Given the description of an element on the screen output the (x, y) to click on. 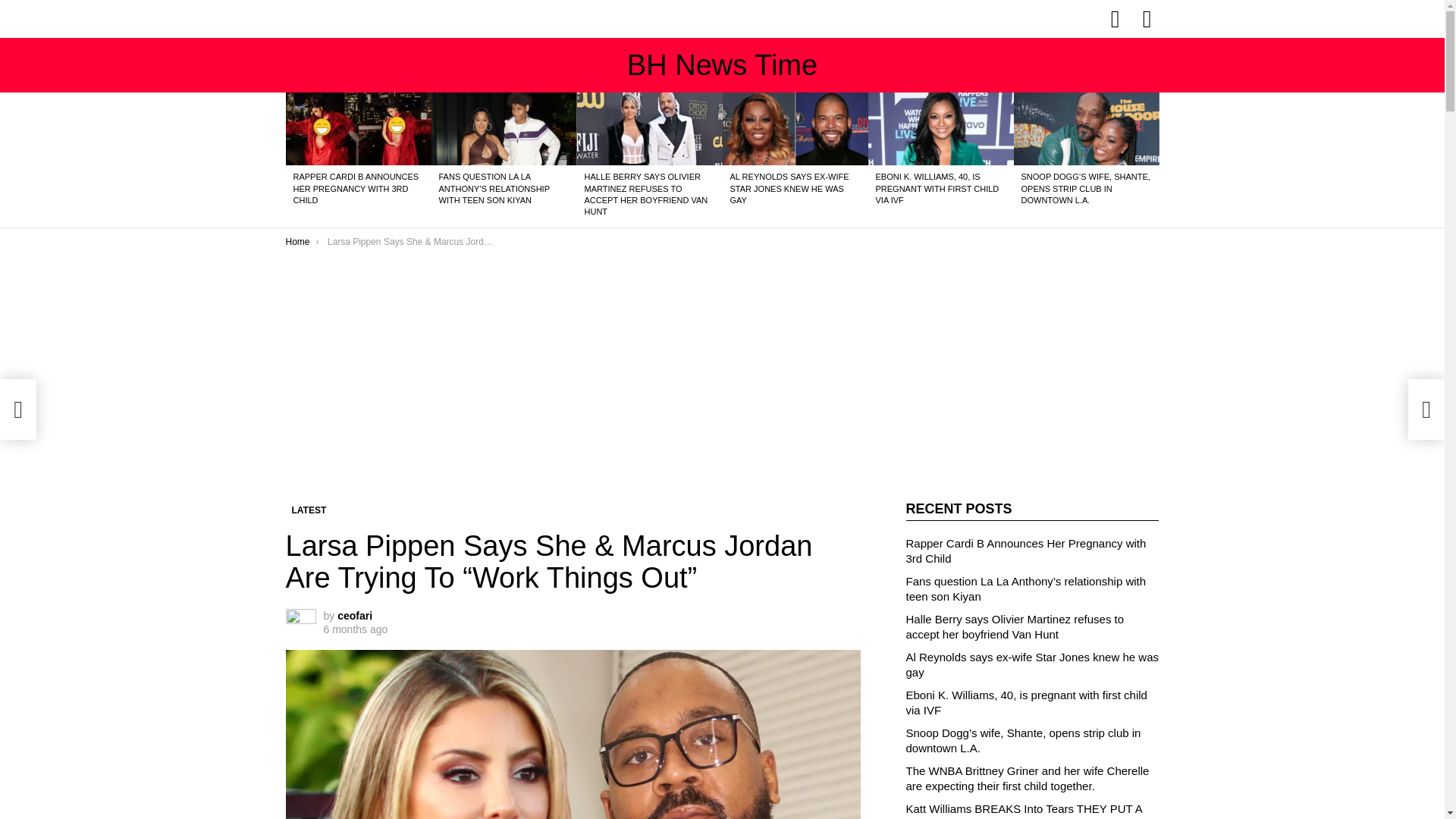
Advertisement (572, 390)
AL REYNOLDS SAYS EX-WIFE STAR JONES KNEW HE WAS GAY (788, 187)
Al Reynolds says ex-wife Star Jones knew he was gay (794, 128)
Home (296, 241)
Rapper Cardi B Announces Her Pregnancy with 3rd Child (357, 128)
BH News Time (721, 65)
Eboni K. Williams, 40, is pregnant with first child via IVF (940, 128)
Posts by ceofari (354, 615)
ceofari (354, 615)
